Given the description of an element on the screen output the (x, y) to click on. 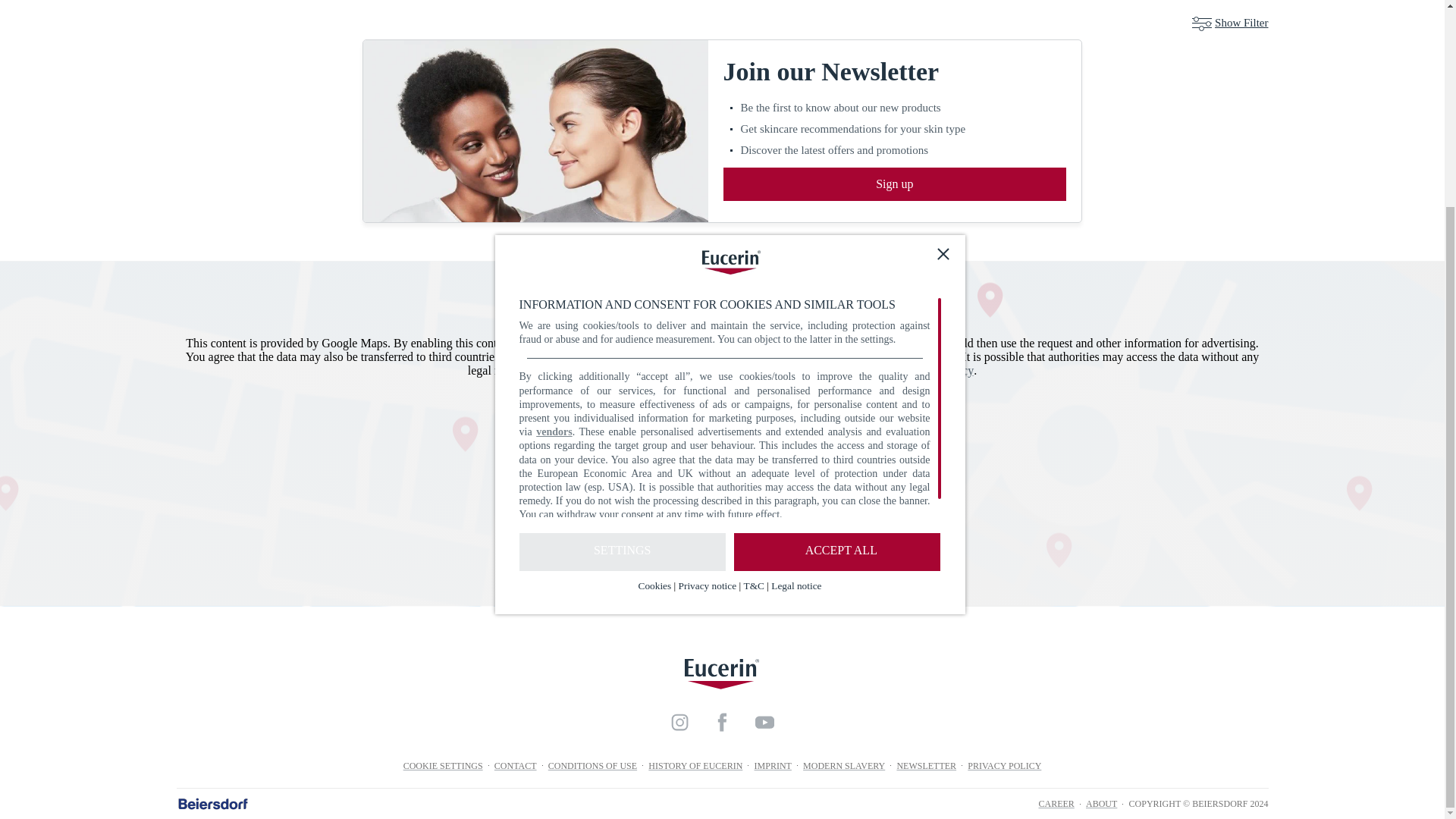
vendors (553, 165)
Legal notice (796, 319)
Privacy notice (707, 319)
s1104 (648, 459)
SETTINGS (622, 285)
ACCEPT ALL (836, 285)
Cookies (655, 319)
